Given the description of an element on the screen output the (x, y) to click on. 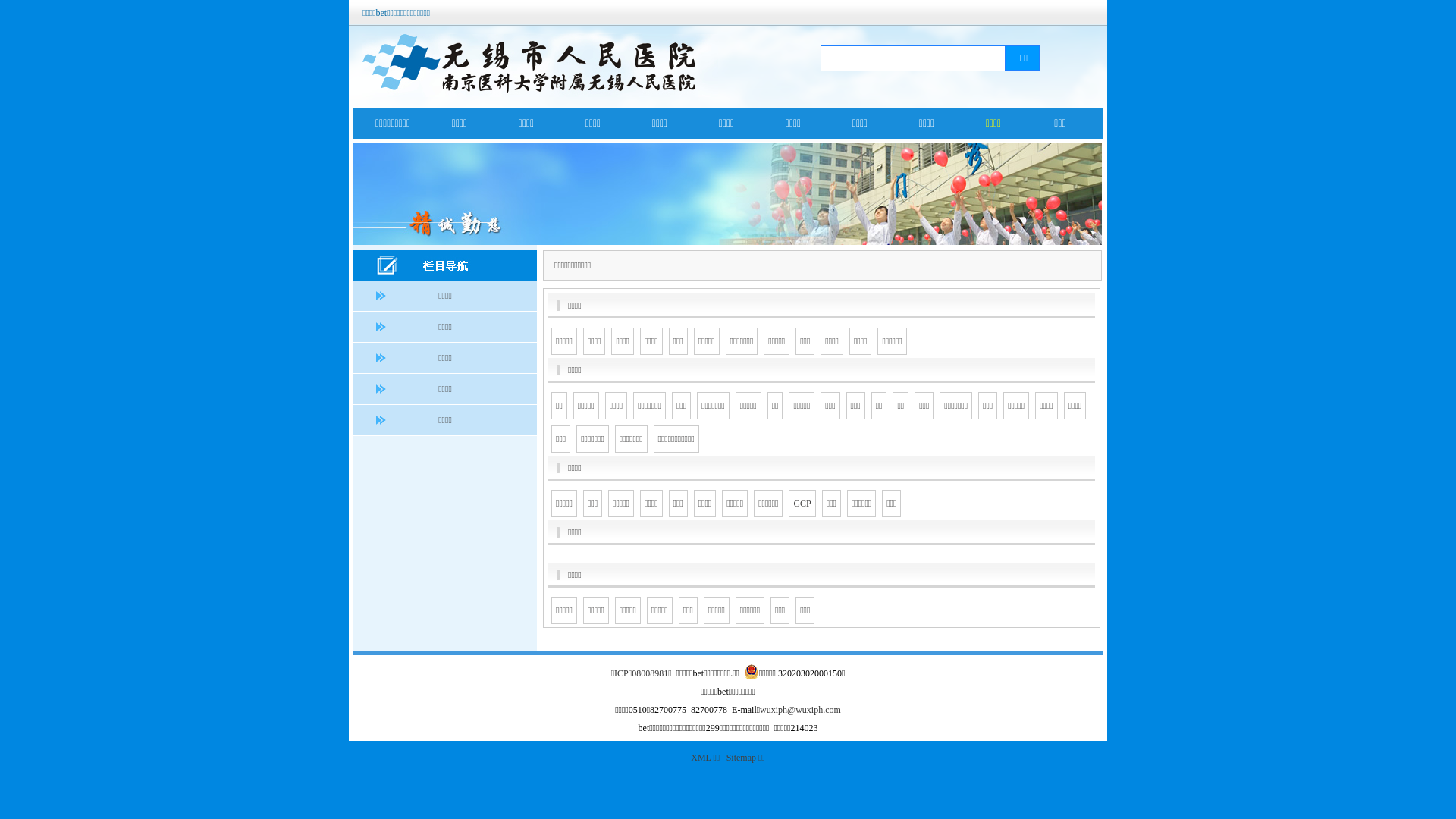
GCP Element type: text (801, 503)
